Given the description of an element on the screen output the (x, y) to click on. 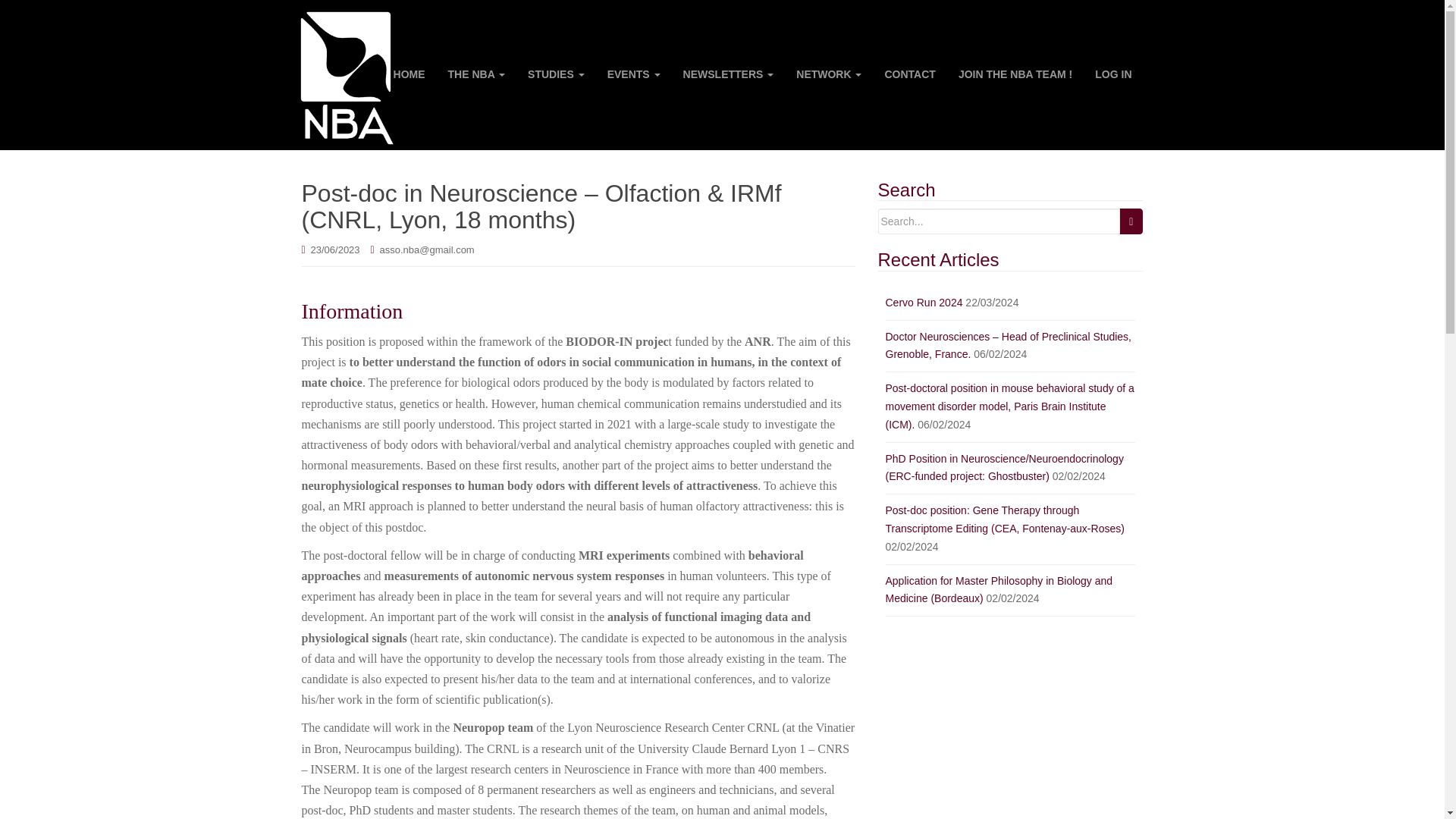
NETWORK (828, 74)
NEWSLETTERS (728, 74)
EVENTS (633, 74)
Go (1130, 221)
The NBA (476, 74)
CONTACT (909, 74)
STUDIES (555, 74)
JOIN THE NBA TEAM ! (1015, 74)
THE NBA (476, 74)
Studies (555, 74)
Events (633, 74)
